Given the description of an element on the screen output the (x, y) to click on. 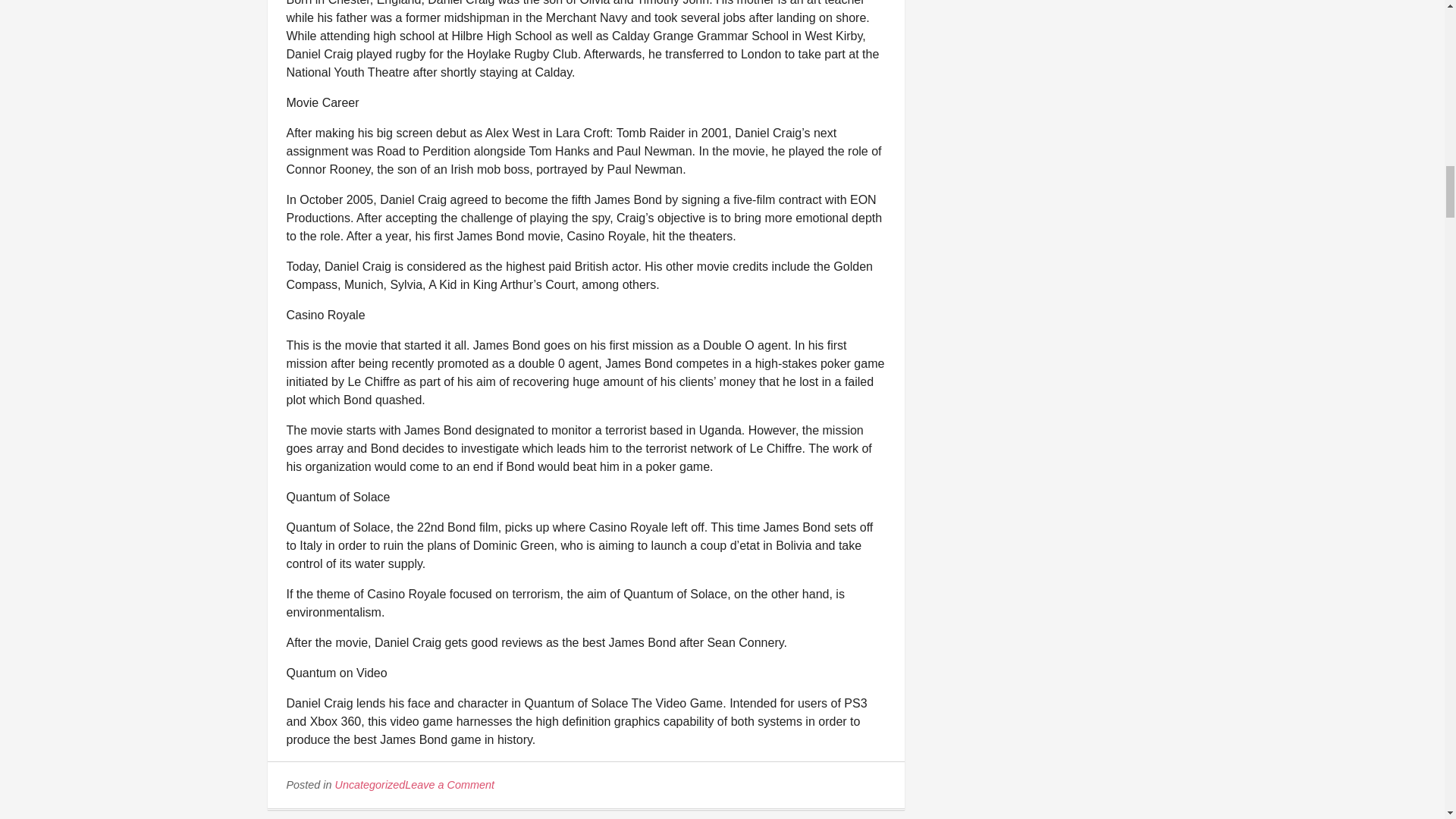
Uncategorized (370, 784)
